Given the description of an element on the screen output the (x, y) to click on. 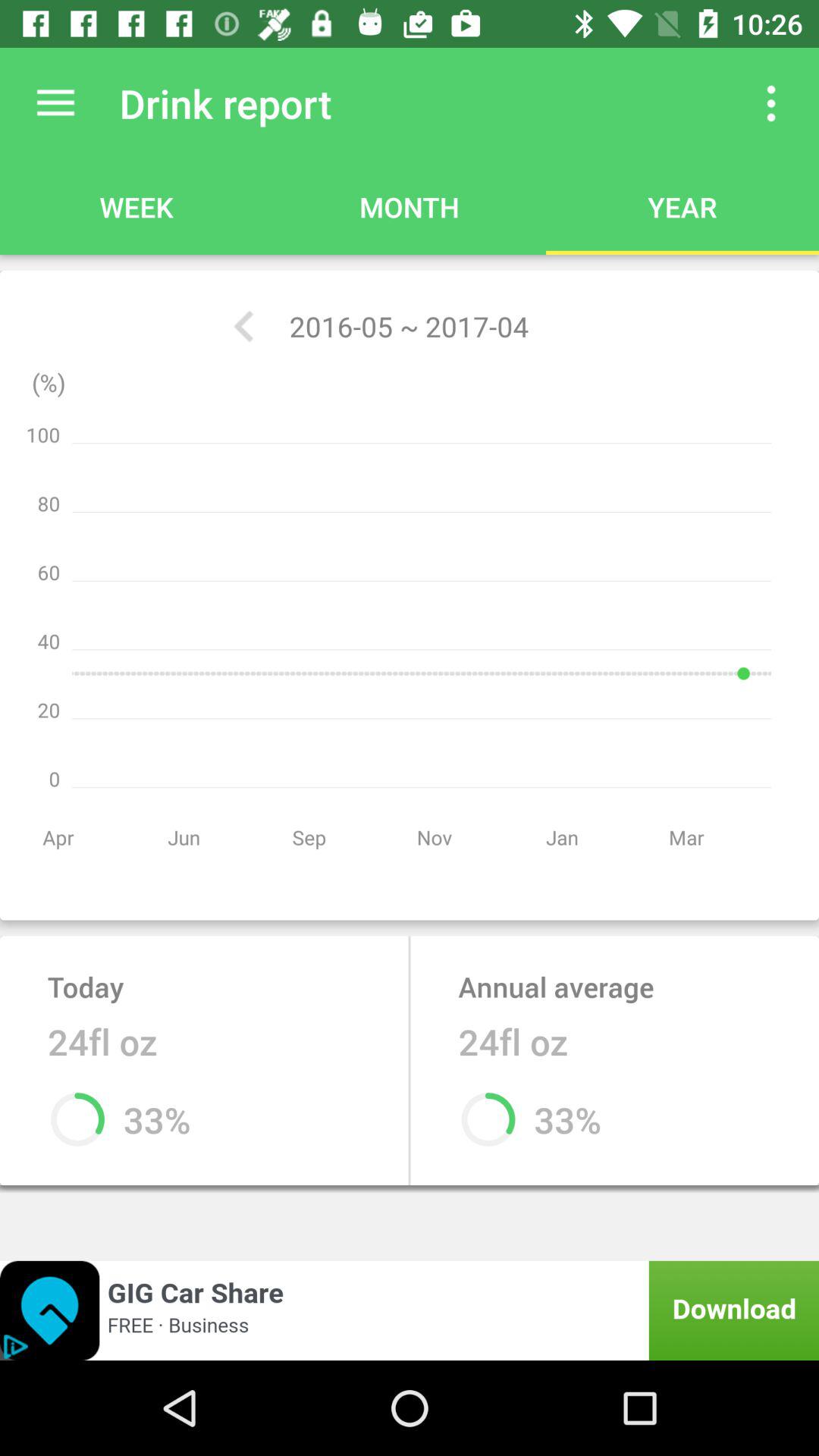
select icon next to drink report (771, 103)
